Given the description of an element on the screen output the (x, y) to click on. 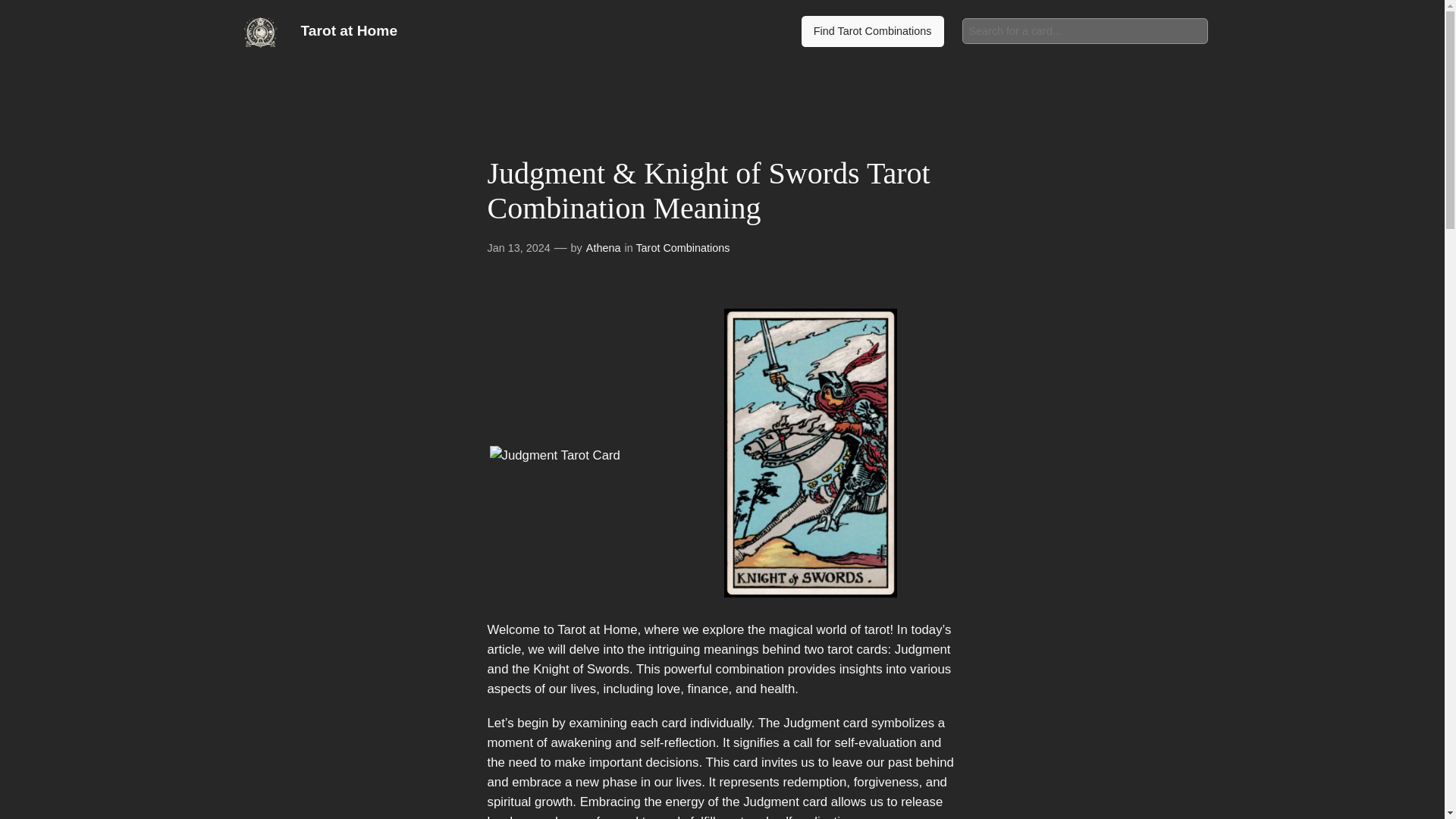
Tarot at Home (348, 30)
Athena (603, 247)
Jan 13, 2024 (518, 247)
Tarot Combinations (681, 247)
Find Tarot Combinations (872, 31)
